Given the description of an element on the screen output the (x, y) to click on. 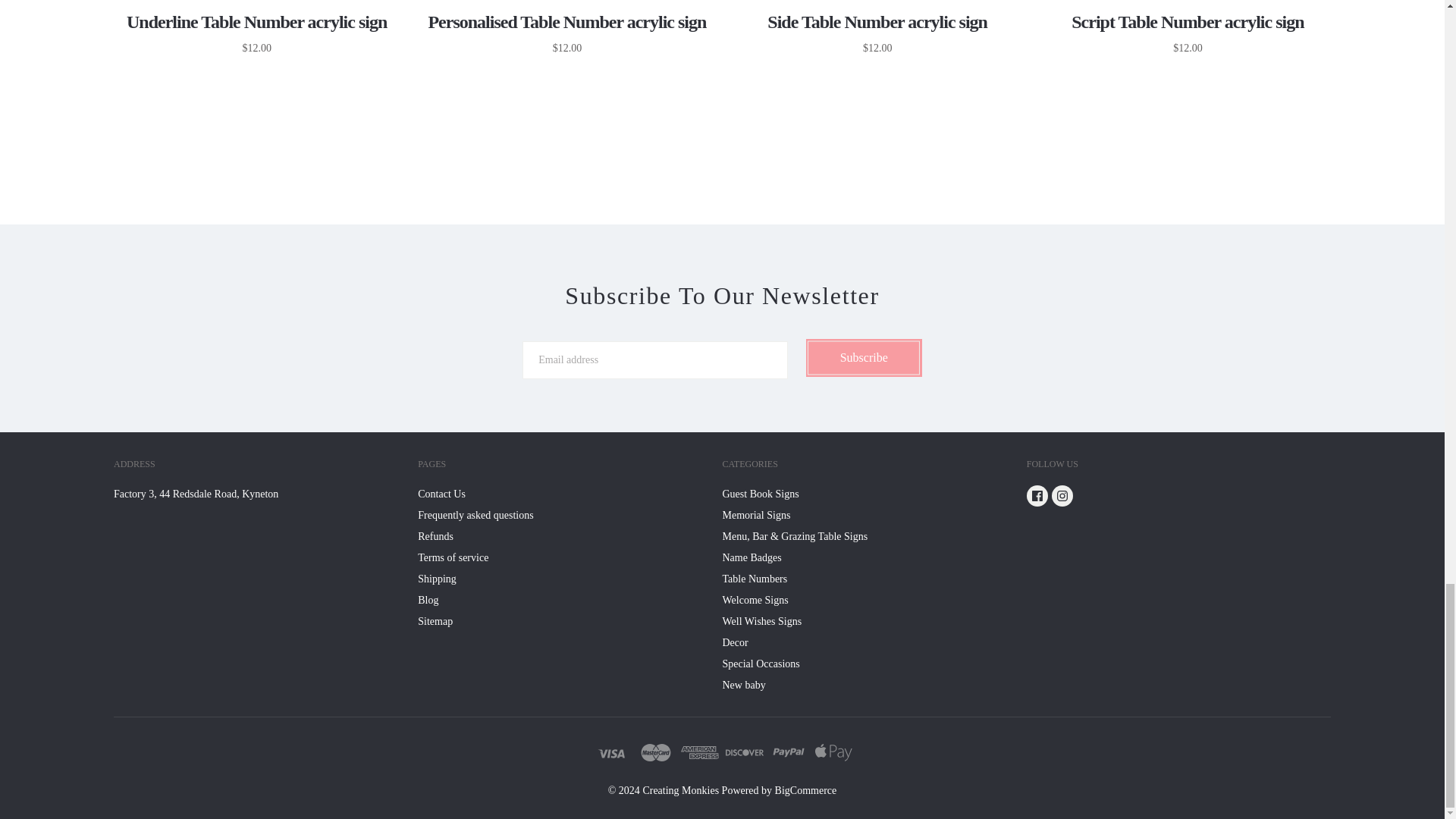
Subscribe (863, 358)
Apple Pay (832, 752)
